Given the description of an element on the screen output the (x, y) to click on. 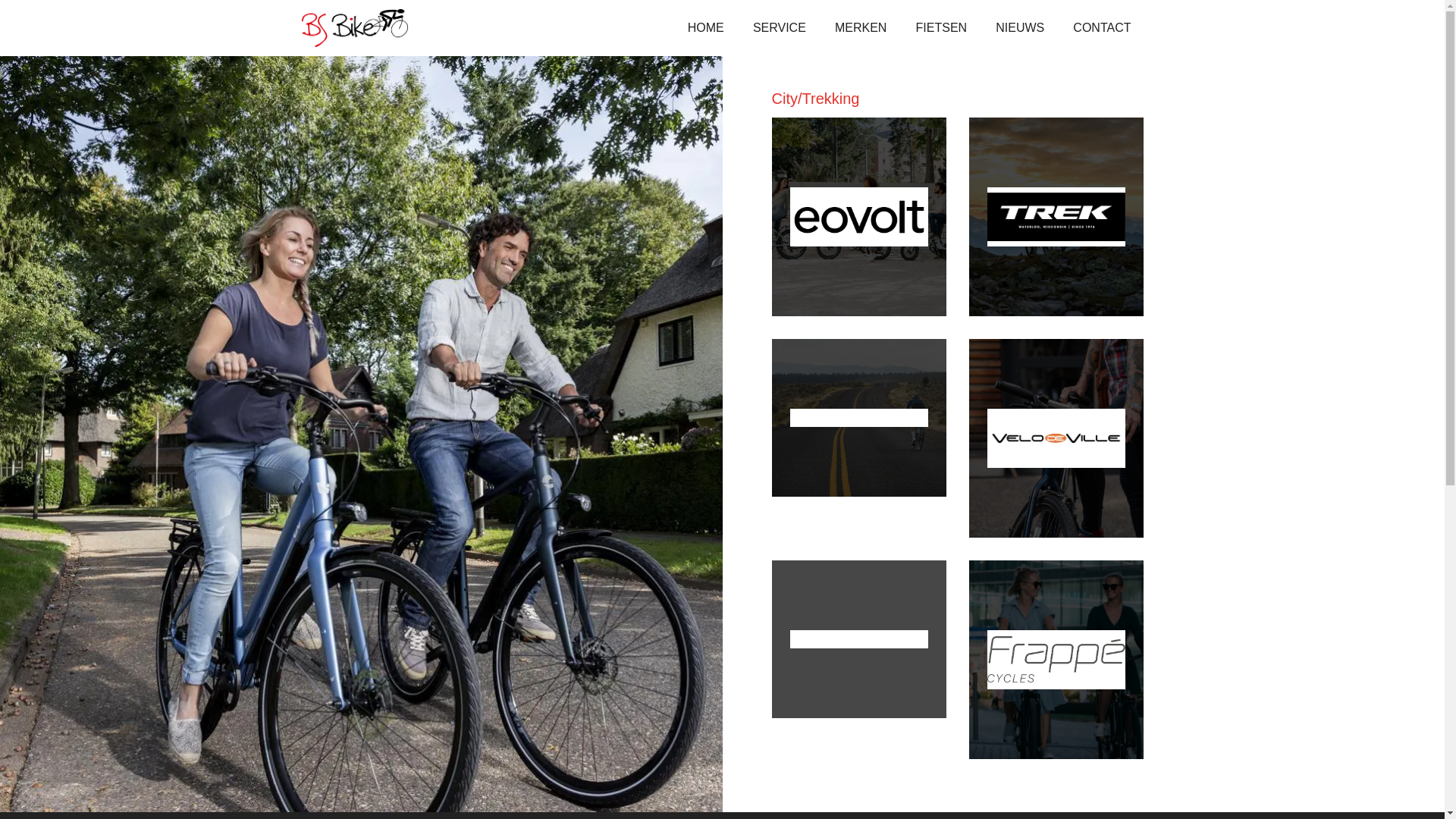
HOME Element type: text (705, 27)
MERKEN Element type: text (860, 27)
CONTACT Element type: text (1101, 27)
FIETSEN Element type: text (941, 27)
SERVICE Element type: text (779, 27)
NIEUWS Element type: text (1019, 27)
